Given the description of an element on the screen output the (x, y) to click on. 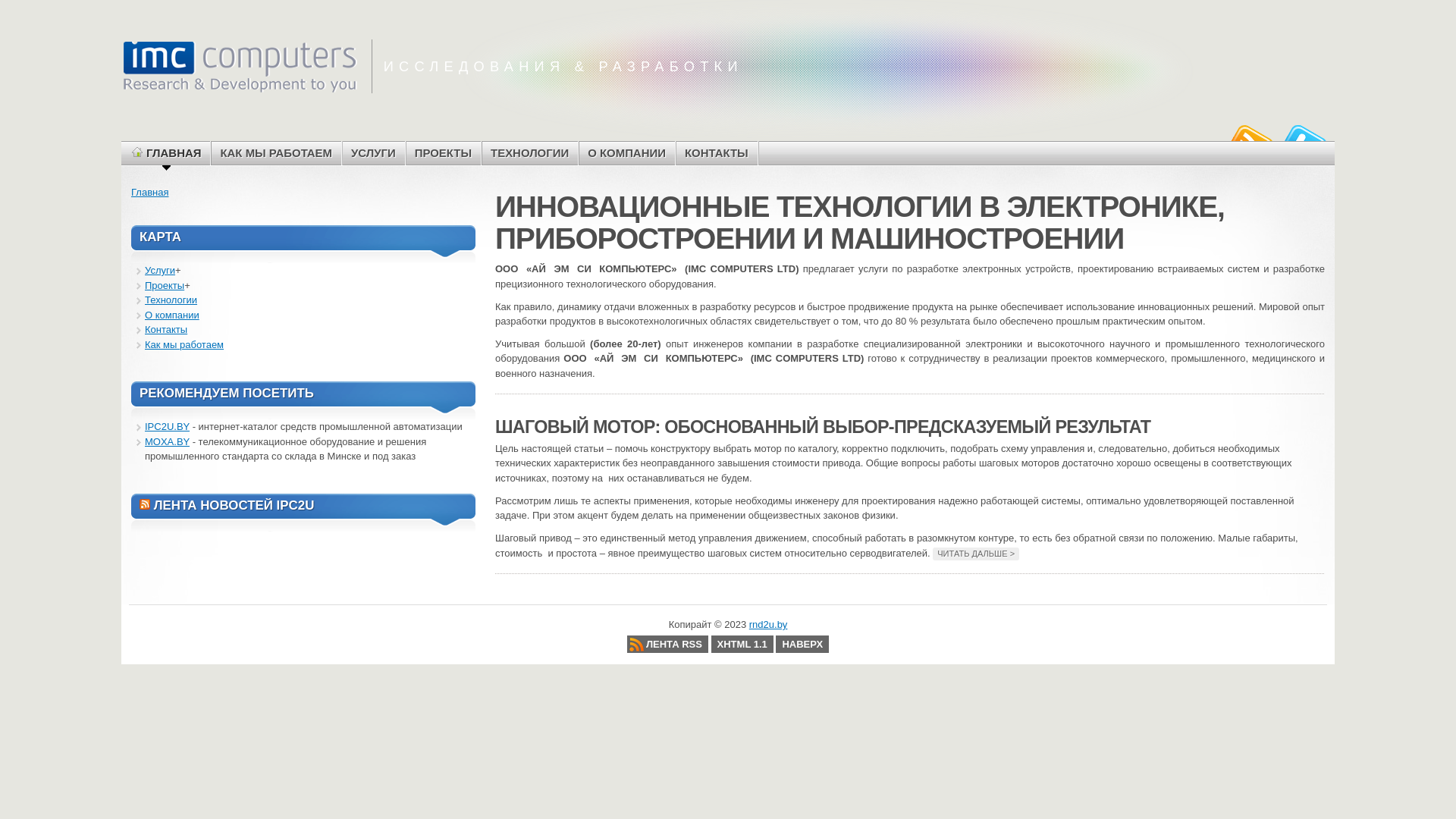
rnd2u.by Element type: hover (239, 65)
XHTML 1.1 Element type: text (742, 643)
IPC2U.BY Element type: text (166, 426)
rnd2u.by Element type: text (768, 624)
MOXA.BY Element type: text (166, 441)
Follow me on Twitter Element type: hover (1302, 138)
